Given the description of an element on the screen output the (x, y) to click on. 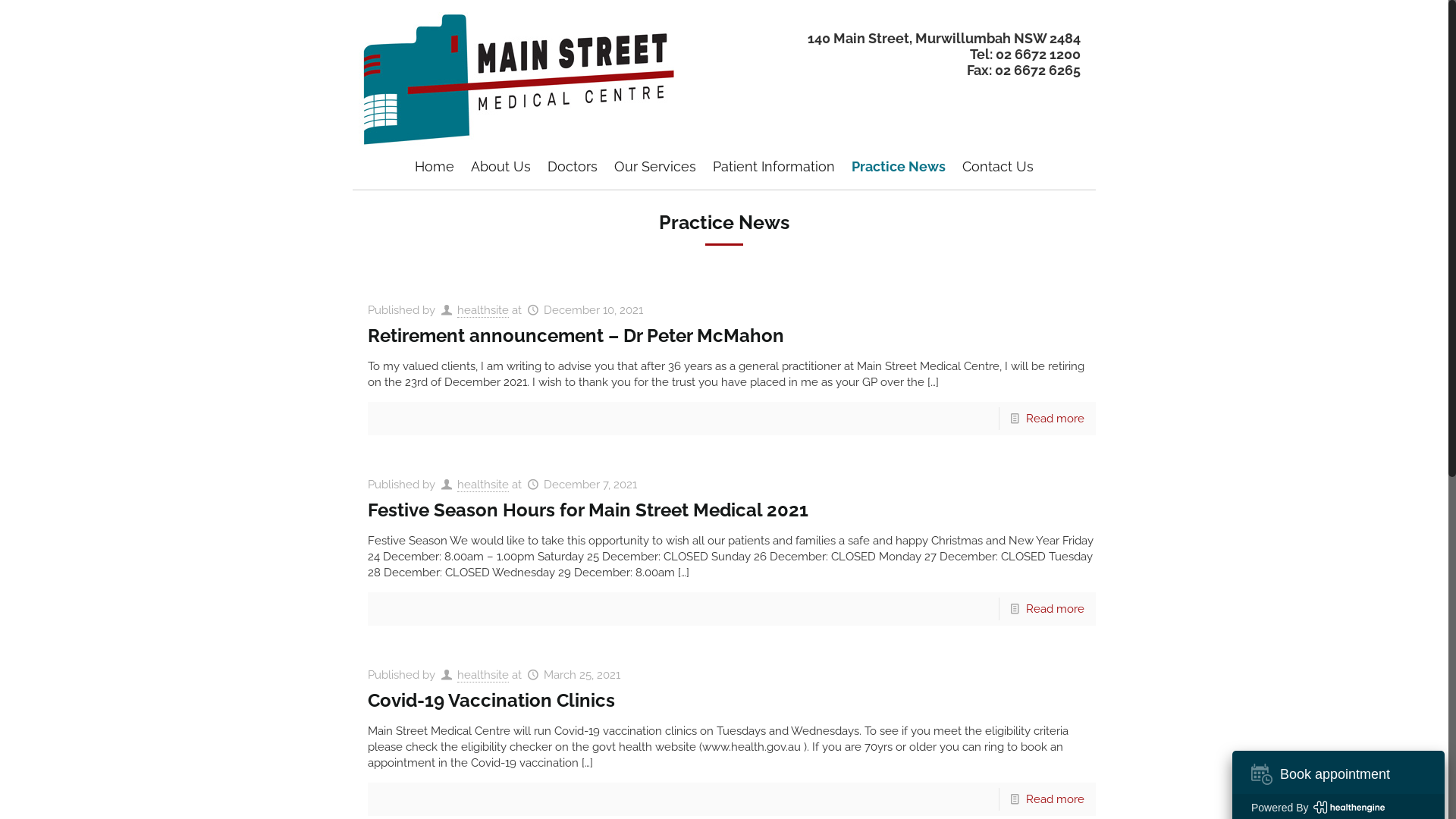
Read more Element type: text (1055, 418)
healthsite Element type: text (482, 484)
Contact Us Element type: text (997, 166)
Patient Information Element type: text (773, 166)
Our Services Element type: text (654, 166)
Home Element type: text (434, 166)
About Us Element type: text (500, 166)
Main Street Medical Centre Element type: hover (516, 75)
healthsite Element type: text (482, 310)
Read more Element type: text (1055, 799)
Covid-19 Vaccination Clinics Element type: text (491, 700)
Festive Season Hours for Main Street Medical 2021 Element type: text (587, 509)
Doctors Element type: text (572, 166)
Read more Element type: text (1055, 608)
healthsite Element type: text (482, 675)
Practice News Element type: text (898, 166)
